Given the description of an element on the screen output the (x, y) to click on. 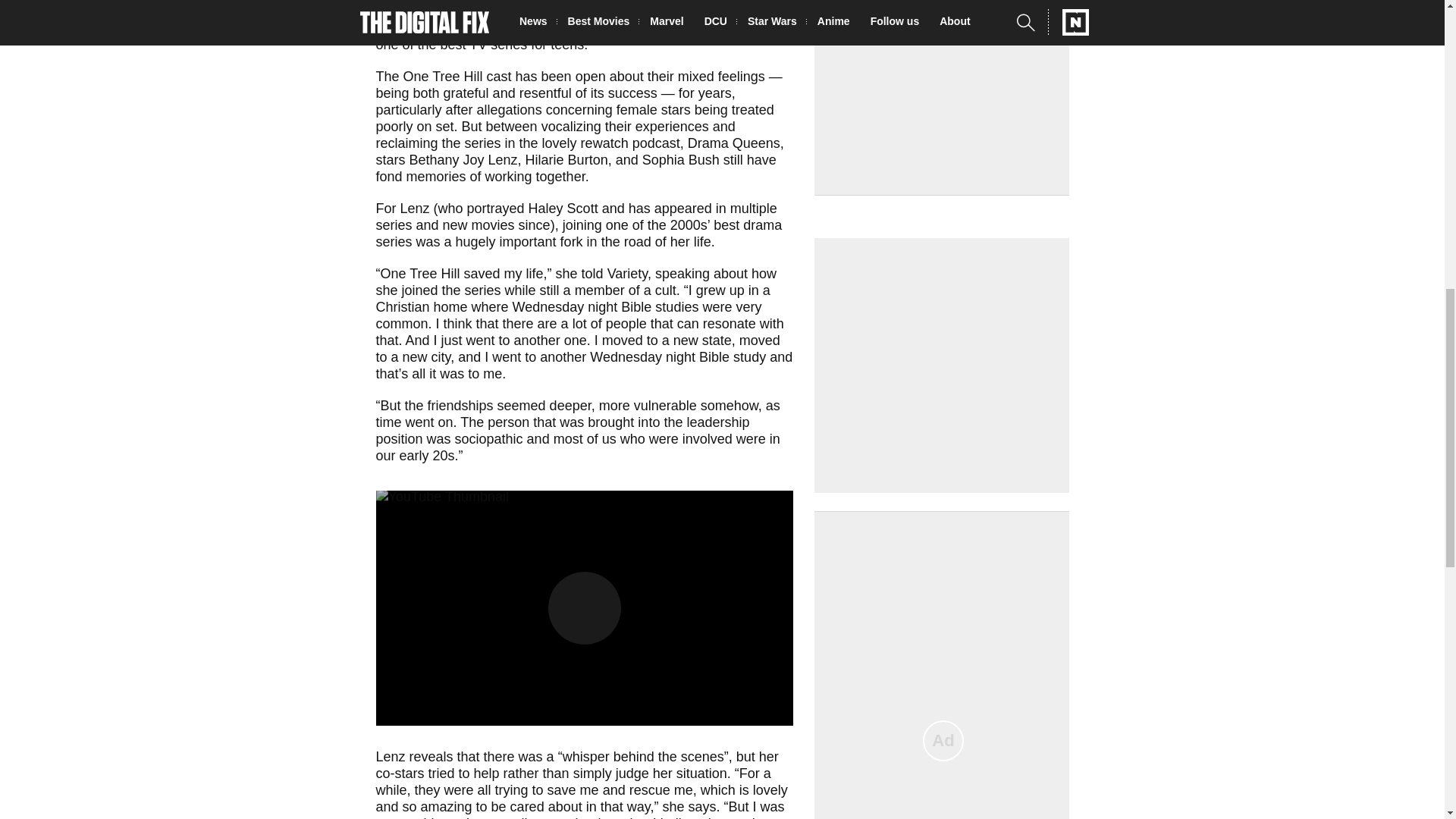
Drama Queens (733, 142)
new movies (478, 224)
One Tree Hill (575, 20)
best TV series (484, 44)
best drama series (579, 233)
allegations (509, 109)
